Given the description of an element on the screen output the (x, y) to click on. 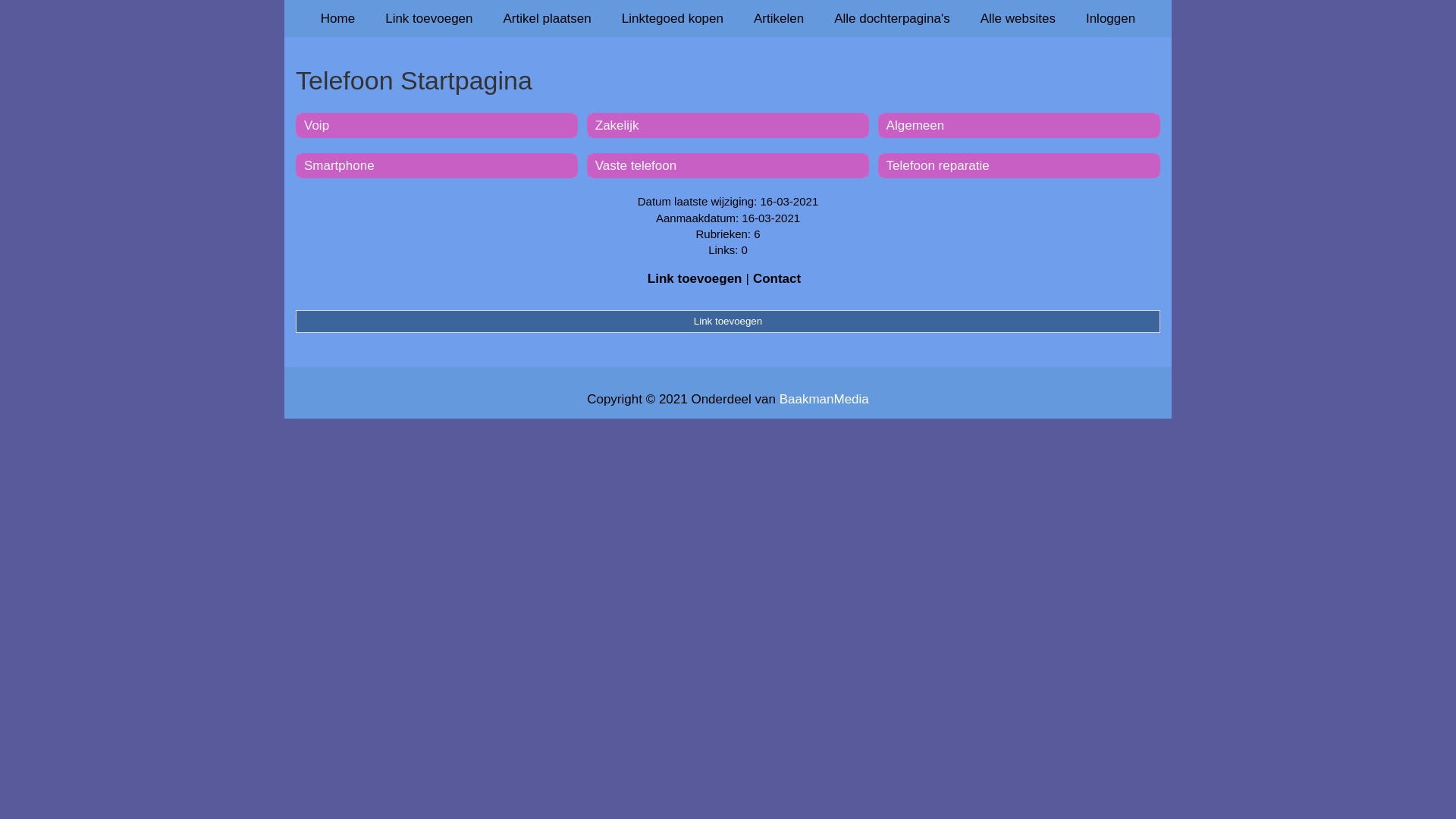
Link toevoegen Element type: text (694, 278)
Smartphone Element type: text (339, 165)
Artikel plaatsen Element type: text (547, 18)
Alle dochterpagina's Element type: text (892, 18)
Contact Element type: text (776, 278)
Artikelen Element type: text (778, 18)
Voip Element type: text (316, 125)
Vaste telefoon Element type: text (635, 165)
Telefoon reparatie Element type: text (937, 165)
Telefoon Startpagina Element type: text (727, 80)
Home Element type: text (337, 18)
Inloggen Element type: text (1110, 18)
Zakelijk Element type: text (617, 125)
Alle websites Element type: text (1017, 18)
Algemeen Element type: text (915, 125)
Link toevoegen Element type: text (727, 321)
Linktegoed kopen Element type: text (672, 18)
Link toevoegen Element type: text (428, 18)
BaakmanMedia Element type: text (824, 399)
